Given the description of an element on the screen output the (x, y) to click on. 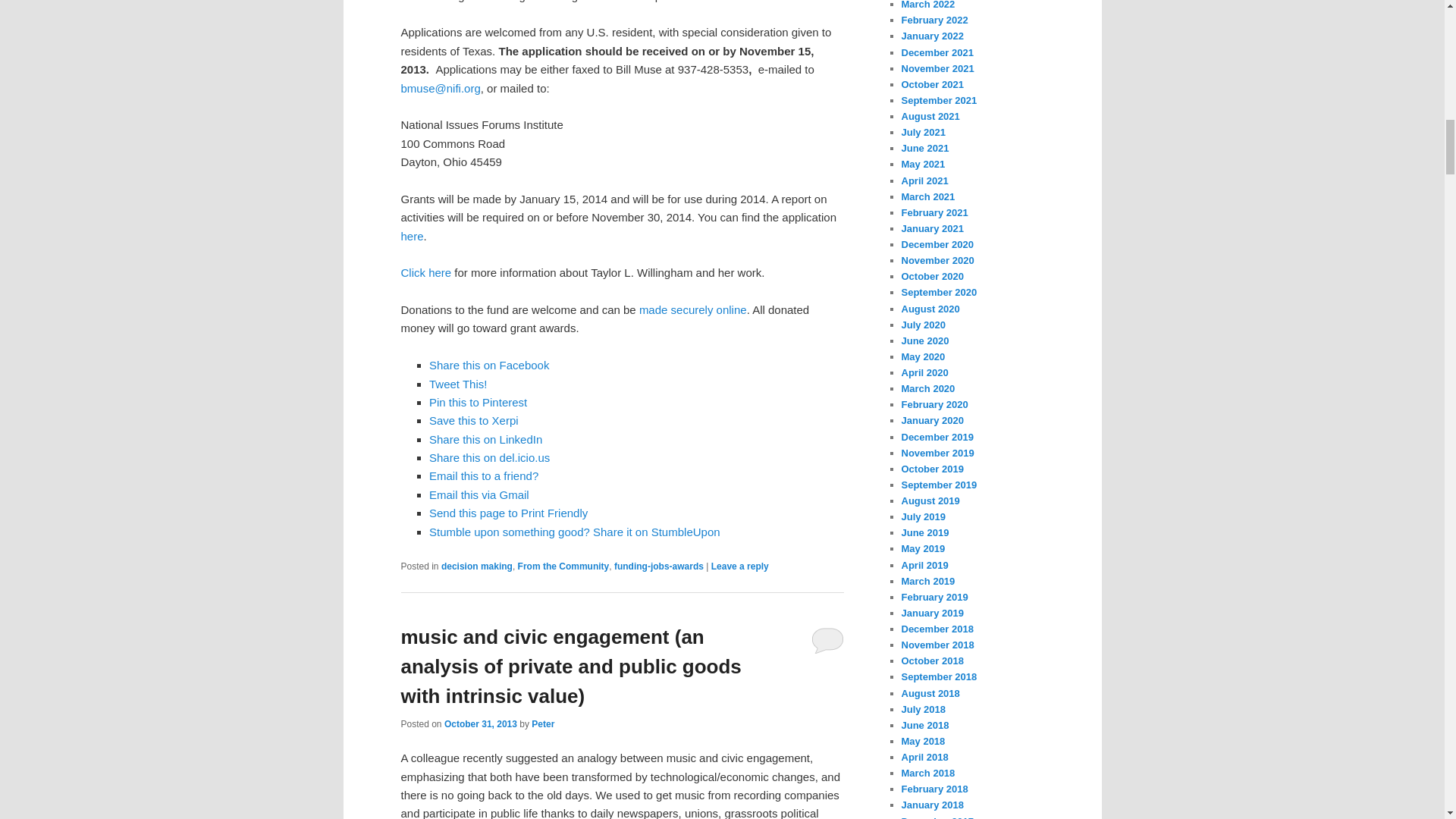
Share this on LinkedIn (485, 439)
Share this on del.icio.us (489, 457)
Save this to Xerpi (473, 420)
Email this to a friend? (483, 475)
Share this on Facebook (488, 364)
Click here (425, 272)
here (411, 236)
Pin this to Pinterest (478, 401)
Tweet This! (457, 383)
Tweet This! (457, 383)
Save this to Xerpi (473, 420)
Share this on Facebook (488, 364)
made securely online (692, 309)
Pin this to Pinterest (478, 401)
